Given the description of an element on the screen output the (x, y) to click on. 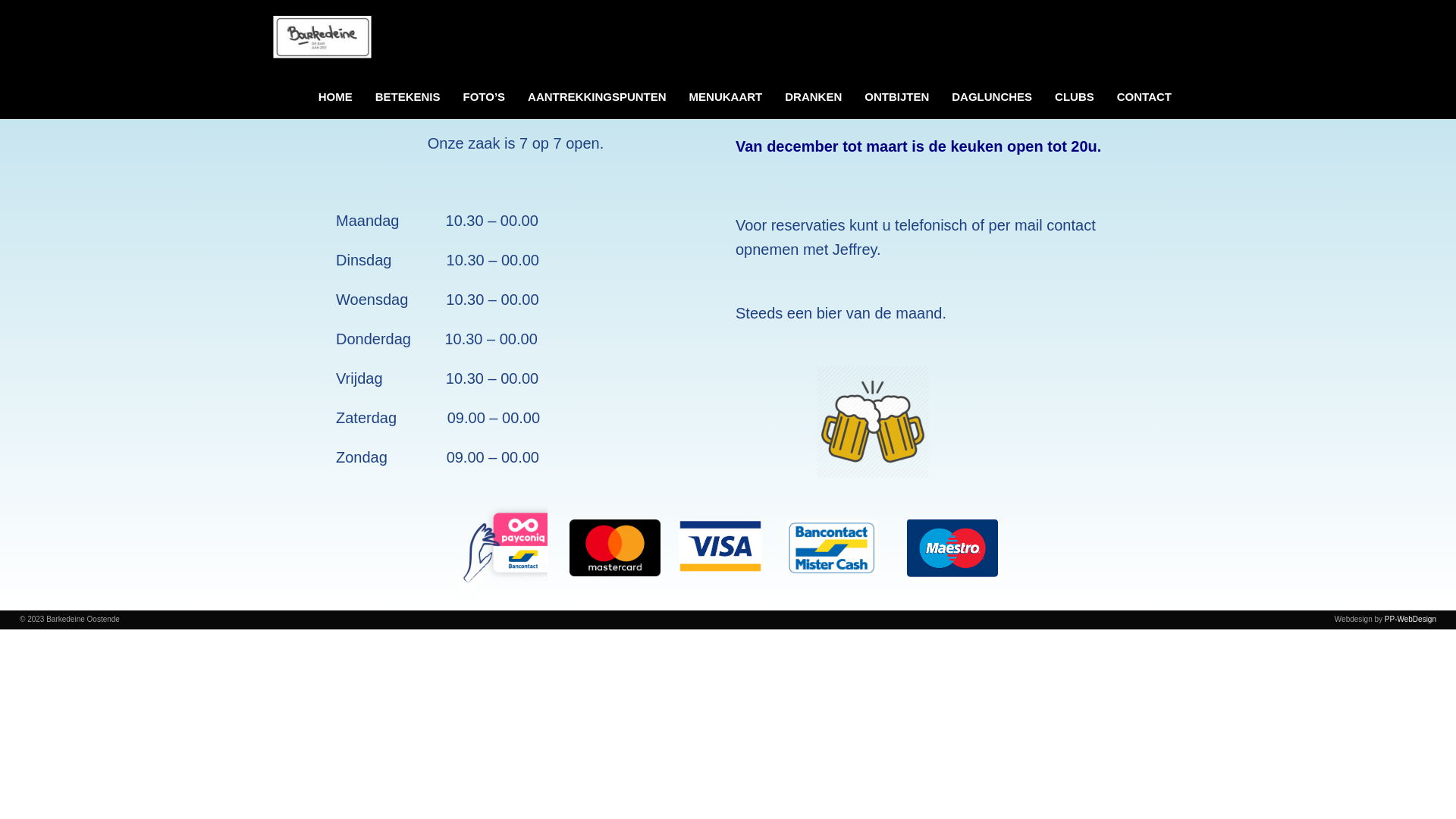
DAGLUNCHES Element type: text (991, 96)
CLUBS Element type: text (1074, 96)
DRANKEN Element type: text (813, 96)
CONTACT Element type: text (1144, 96)
PP-WebDesign Element type: text (1410, 619)
ONTBIJTEN Element type: text (896, 96)
HOME Element type: text (335, 96)
MENUKAART Element type: text (725, 96)
AANTREKKINGSPUNTEN Element type: text (596, 96)
BETEKENIS Element type: text (407, 96)
